Given the description of an element on the screen output the (x, y) to click on. 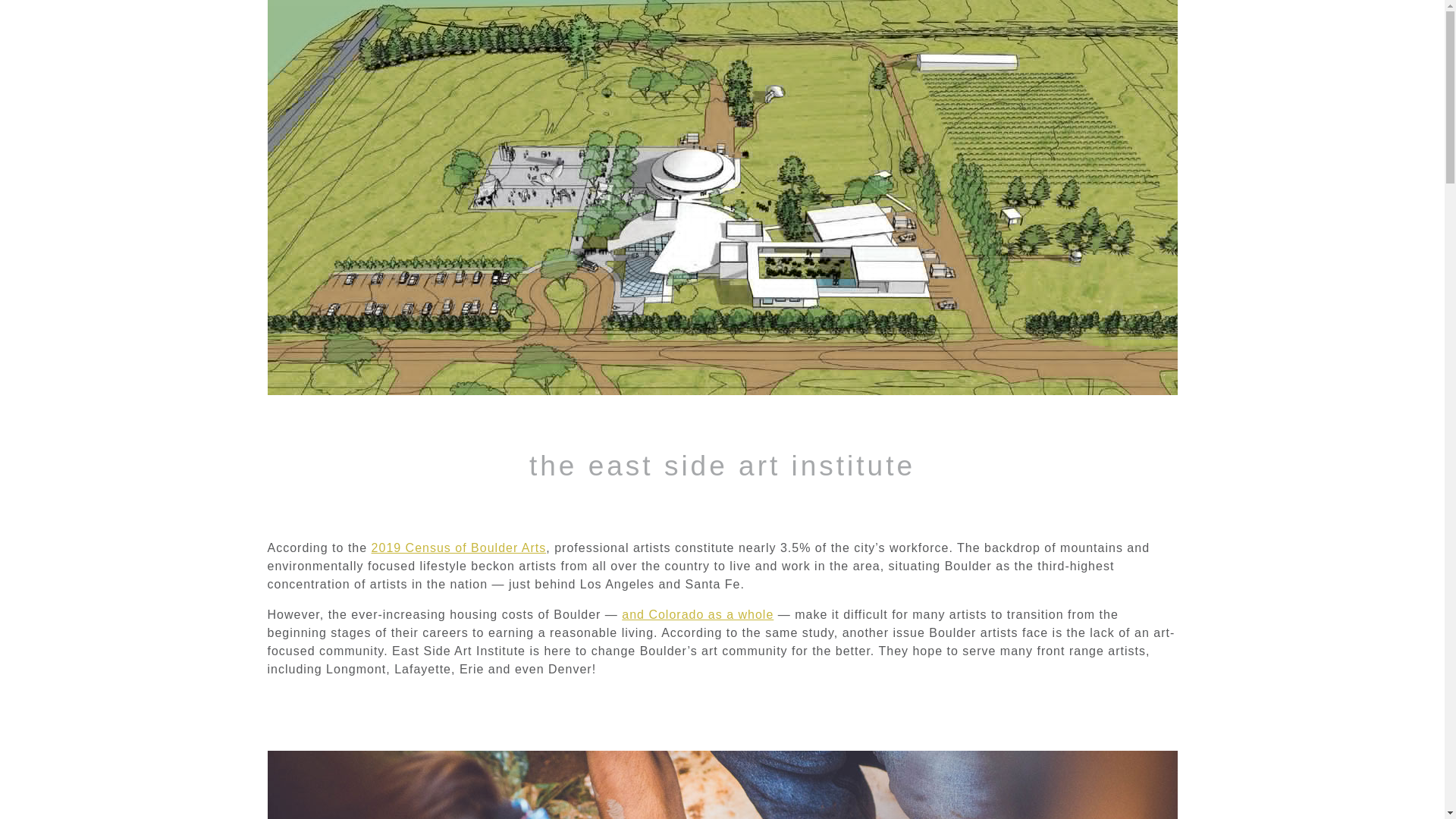
pexels-shane-albuquerque (721, 785)
2019 Census of Boulder Arts (459, 547)
and Colorado as a whole (697, 614)
